Given the description of an element on the screen output the (x, y) to click on. 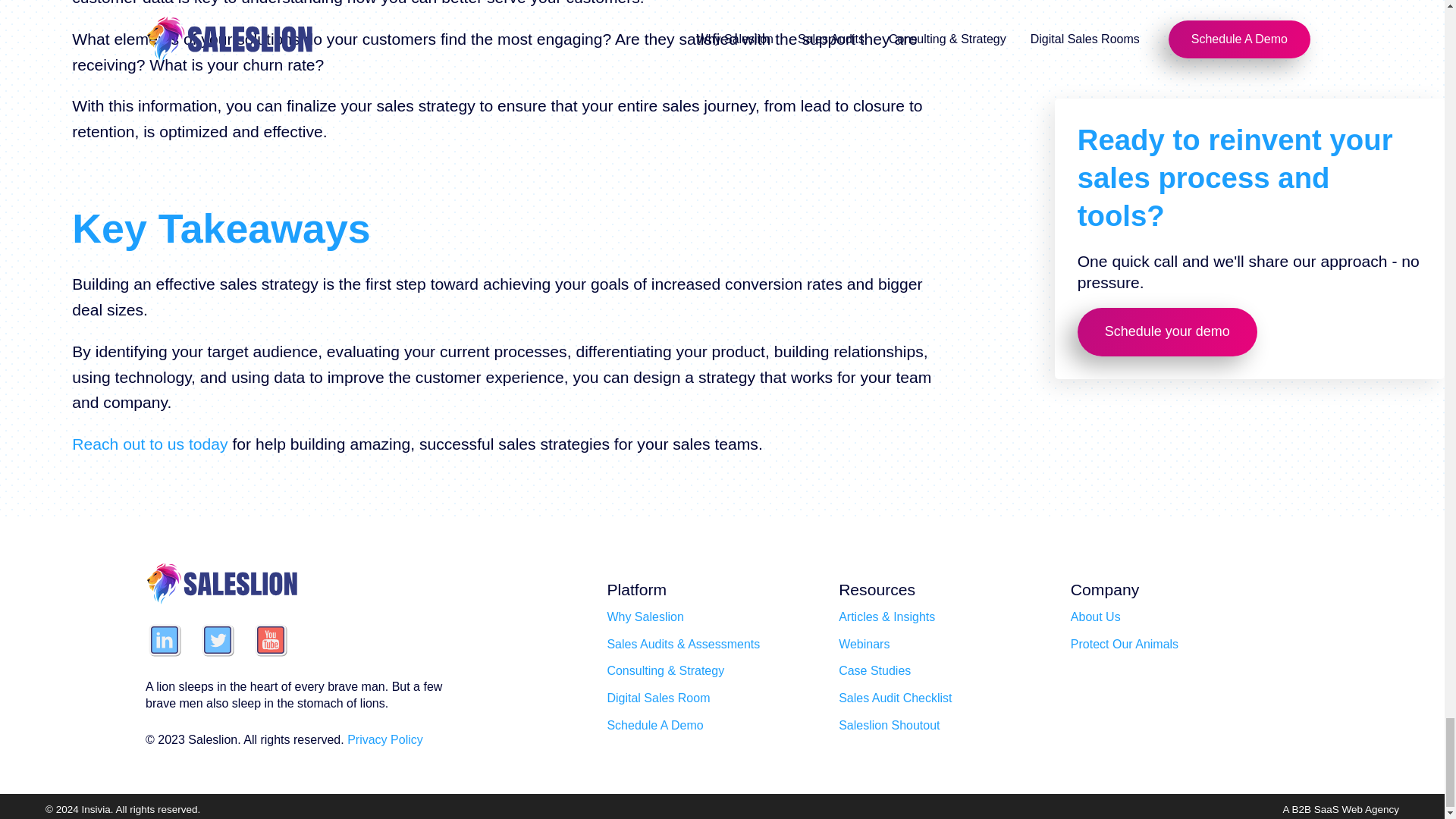
Why Saleslion (644, 617)
Schedule A Demo (655, 725)
Resources (876, 589)
Platform (636, 589)
Reach out to us today (149, 443)
Privacy Policy (385, 739)
Digital Sales Room (658, 698)
